Given the description of an element on the screen output the (x, y) to click on. 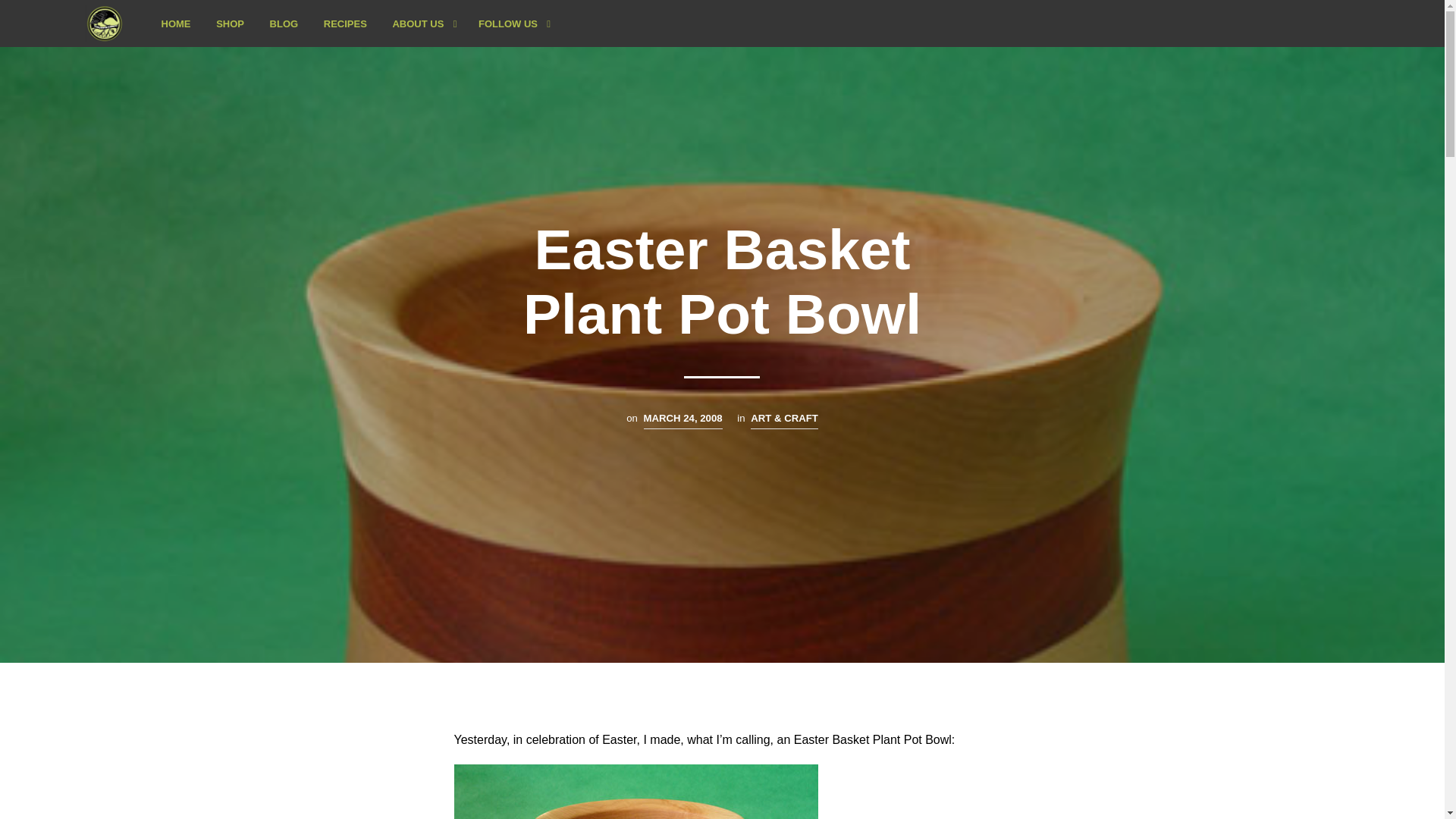
MARCH 24, 2008 (682, 420)
RECIPES (345, 23)
Permalink to Easter Basket Plant Pot Bowl (682, 420)
FOLLOW US (507, 23)
SHOP (230, 23)
ABOUT US (417, 23)
HOME (175, 23)
BLOG (284, 23)
